Given the description of an element on the screen output the (x, y) to click on. 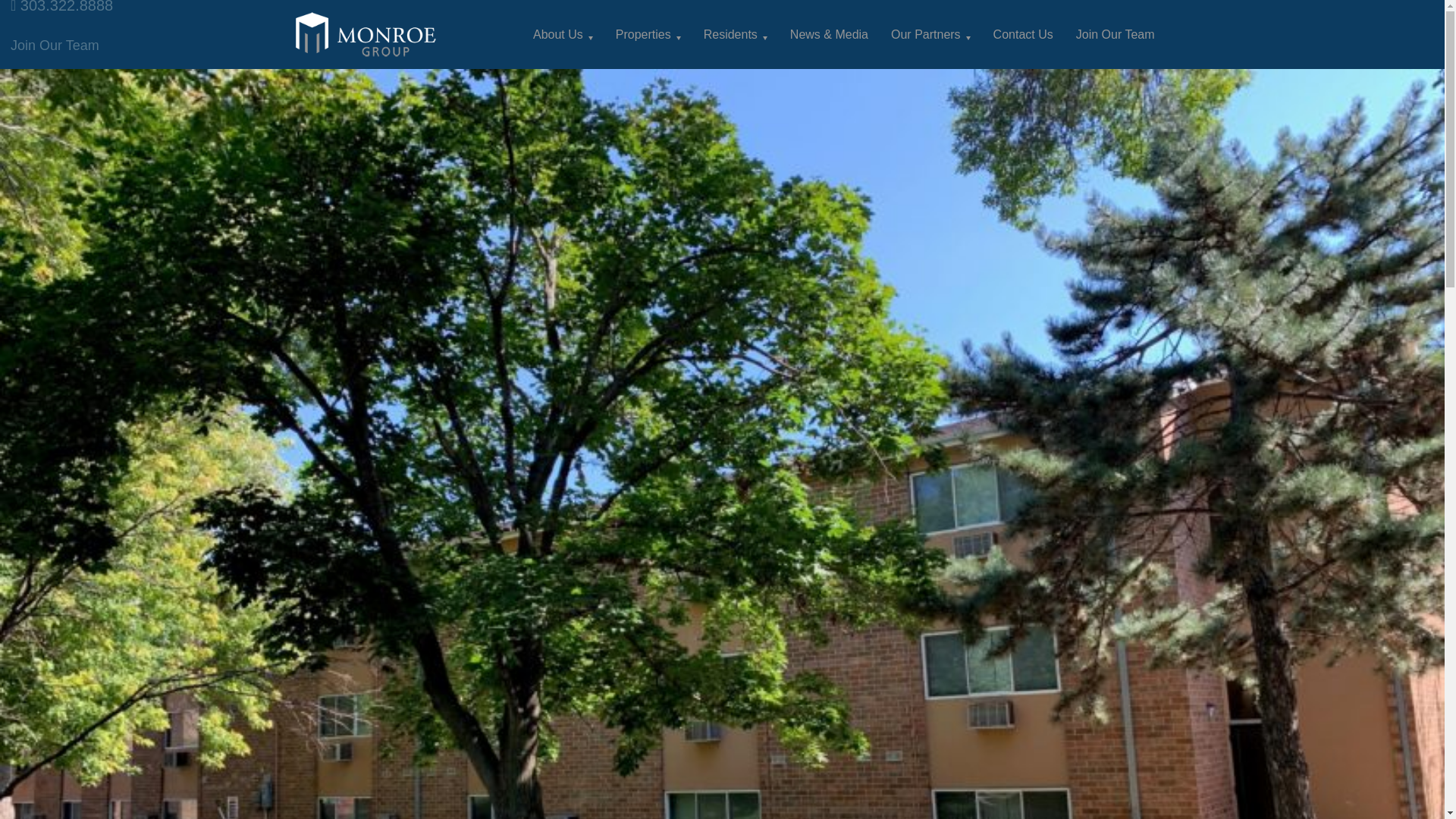
Join Our Team (1115, 33)
Our Partners (930, 33)
Contact Us (1022, 33)
Residents (735, 33)
Properties (648, 33)
About Us (562, 33)
